Given the description of an element on the screen output the (x, y) to click on. 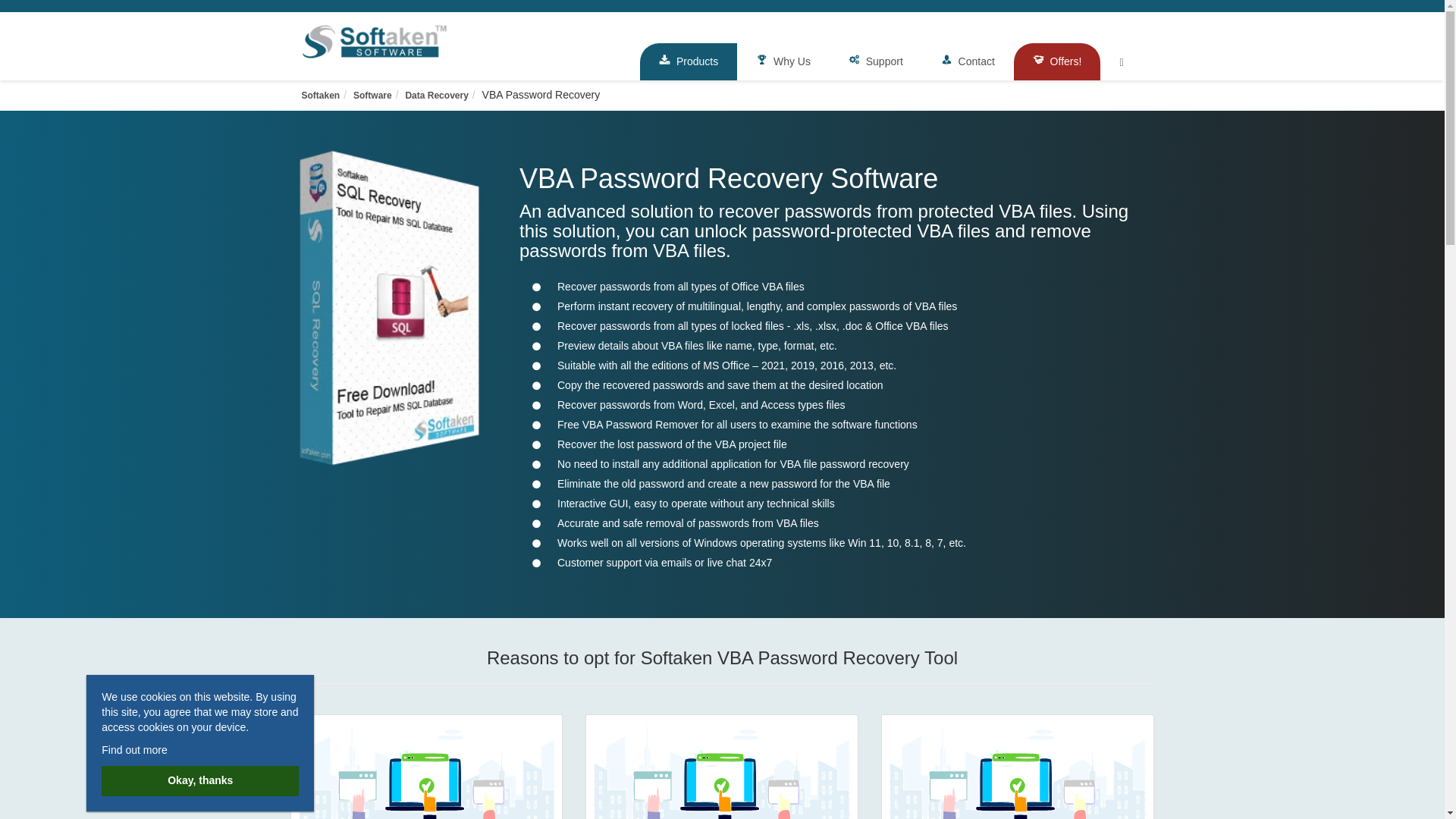
Data Recovery (435, 95)
  Offers! (1056, 61)
  Why Us (782, 61)
Software (372, 95)
  Support (875, 61)
Softaken (320, 95)
  Contact (967, 61)
  Products (688, 61)
